Given the description of an element on the screen output the (x, y) to click on. 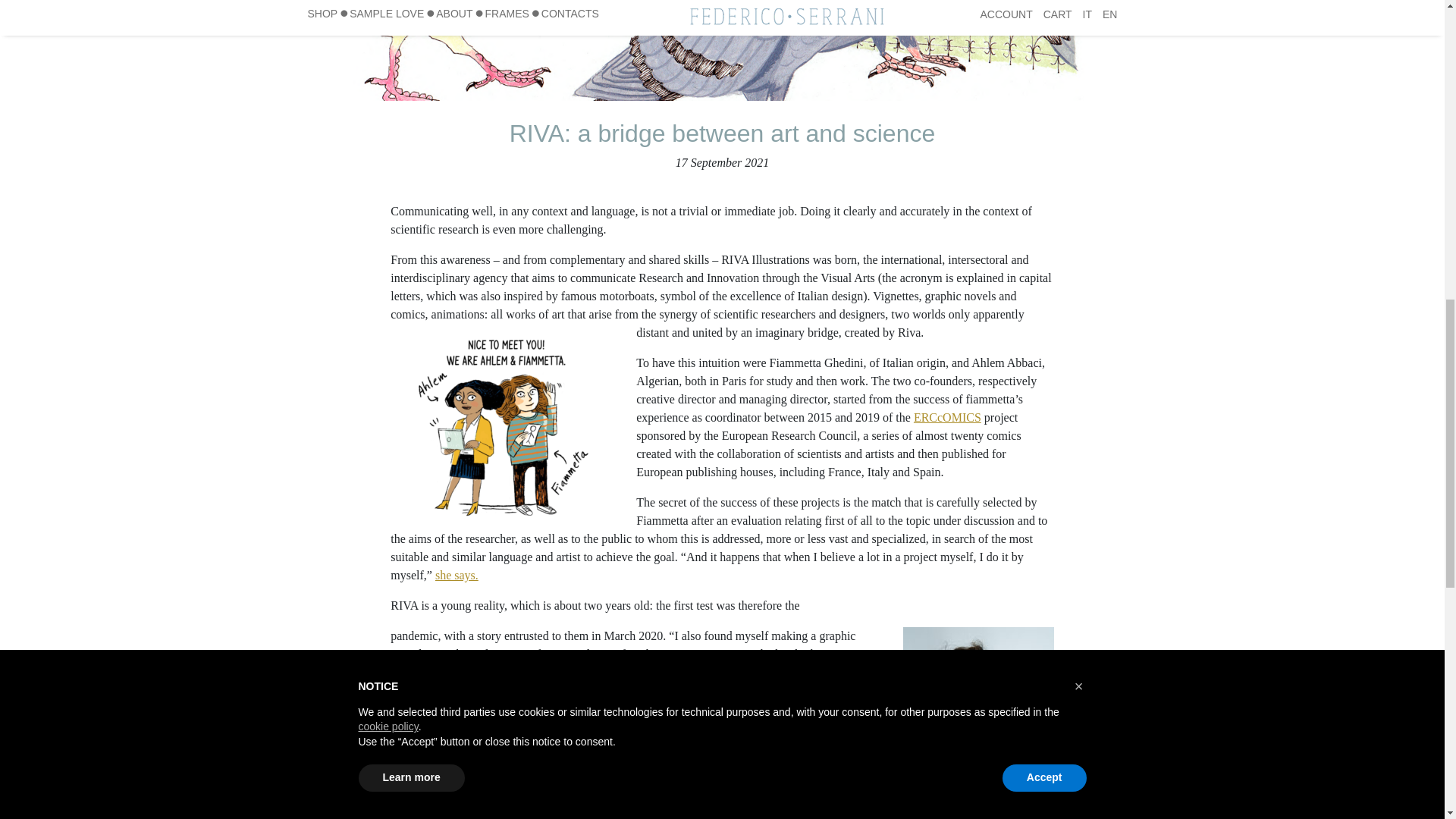
ERCcOMICS (947, 417)
she says. (457, 574)
